Given the description of an element on the screen output the (x, y) to click on. 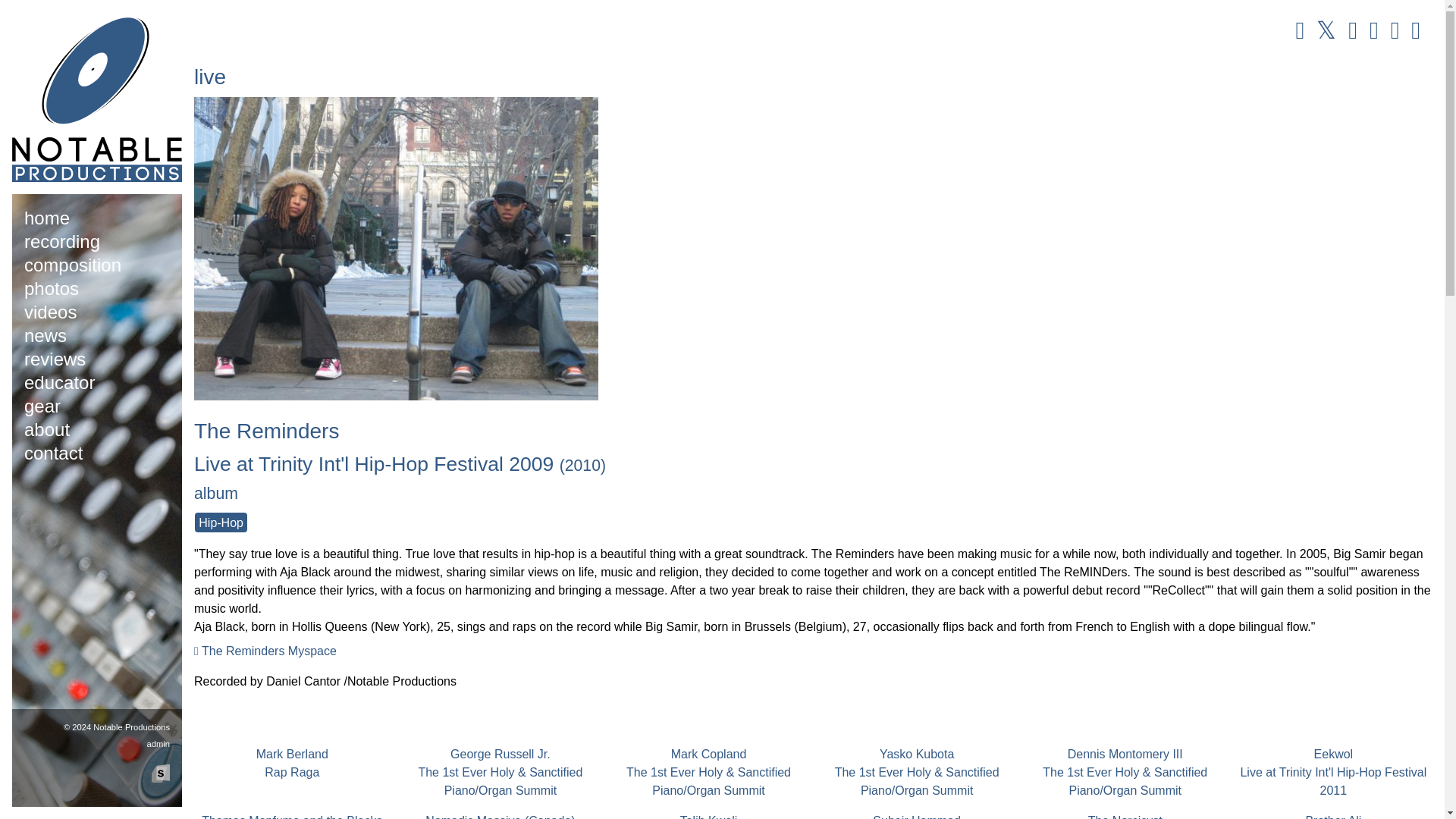
educator (59, 384)
news (45, 337)
recording (291, 815)
The Reminders Myspace (62, 243)
Hip-Hop (264, 650)
videos (221, 522)
composition (50, 314)
about (72, 267)
gear (1332, 815)
photos (46, 431)
